Given the description of an element on the screen output the (x, y) to click on. 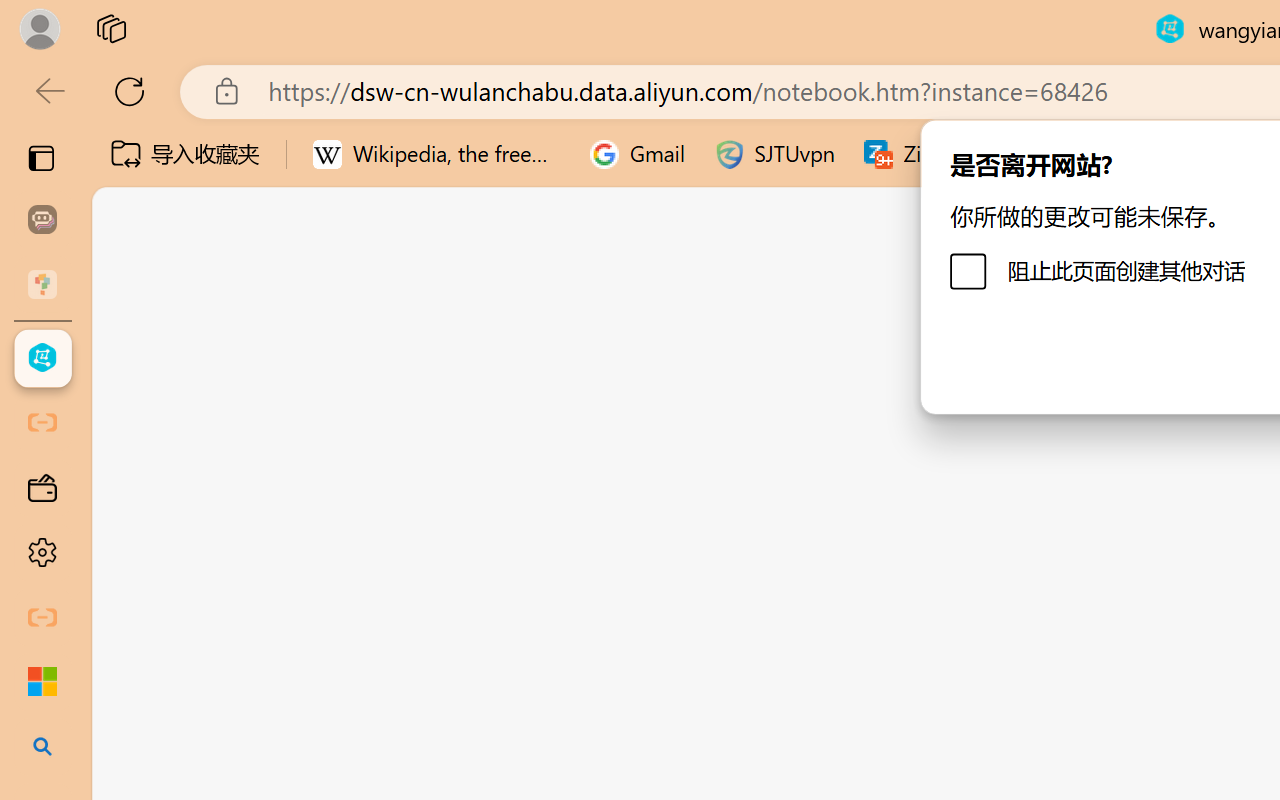
Go Forward (Alt+RightArrow) (652, 294)
Search (Ctrl+Shift+F) (135, 519)
Wikipedia, the free encyclopedia (437, 154)
Notebook (652, 225)
Gmail (637, 154)
Views and More Actions... (442, 357)
wangyian_dsw - DSW (42, 357)
Set Port Label (F2) (730, 489)
Source Control (Ctrl+Shift+G) (135, 604)
Problems (Ctrl+Shift+M) (567, 358)
Application Menu (135, 358)
